Given the description of an element on the screen output the (x, y) to click on. 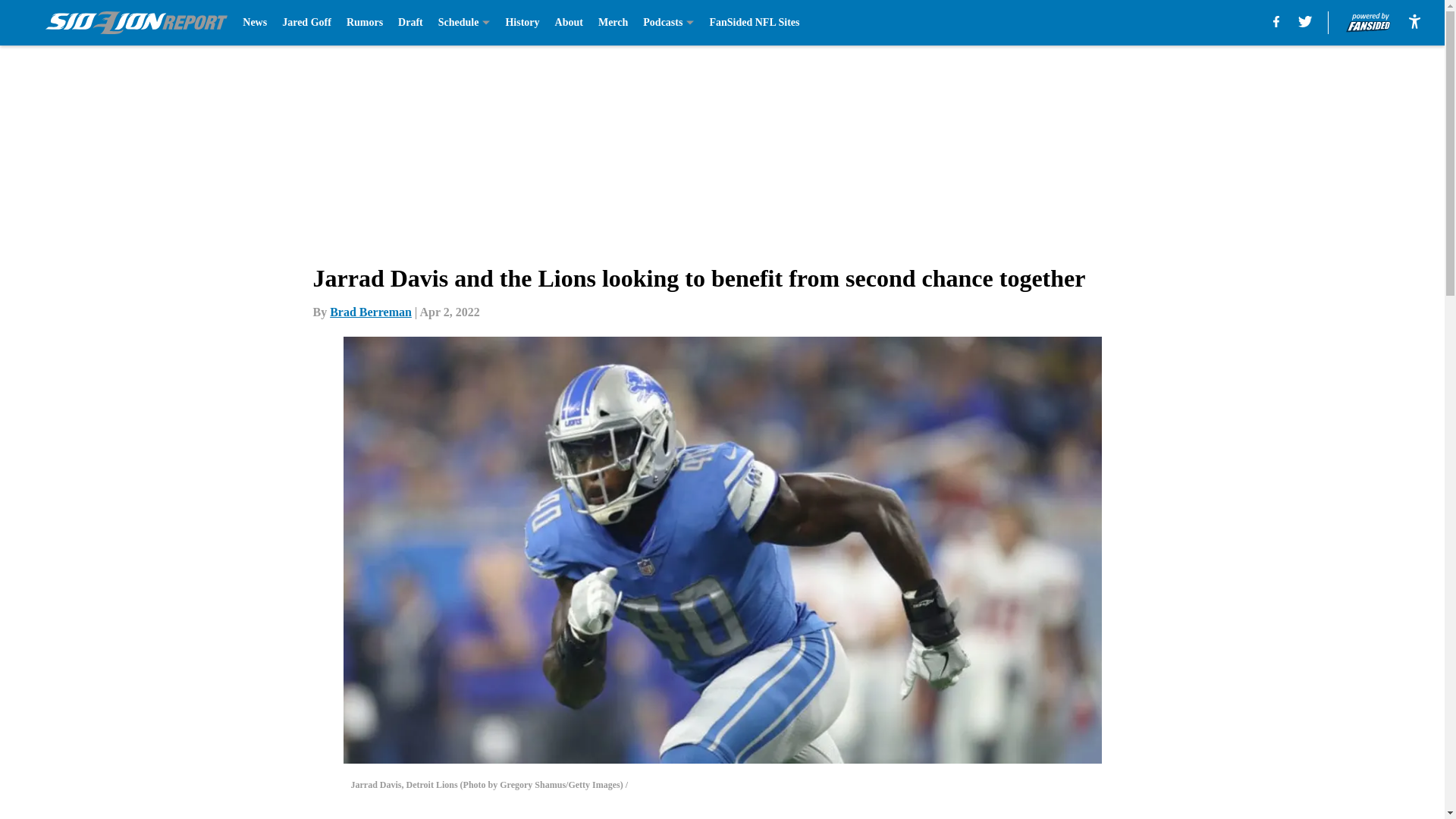
About (568, 22)
History (521, 22)
Jared Goff (306, 22)
Draft (410, 22)
News (254, 22)
Rumors (364, 22)
Brad Berreman (371, 311)
FanSided NFL Sites (754, 22)
Merch (612, 22)
